Given the description of an element on the screen output the (x, y) to click on. 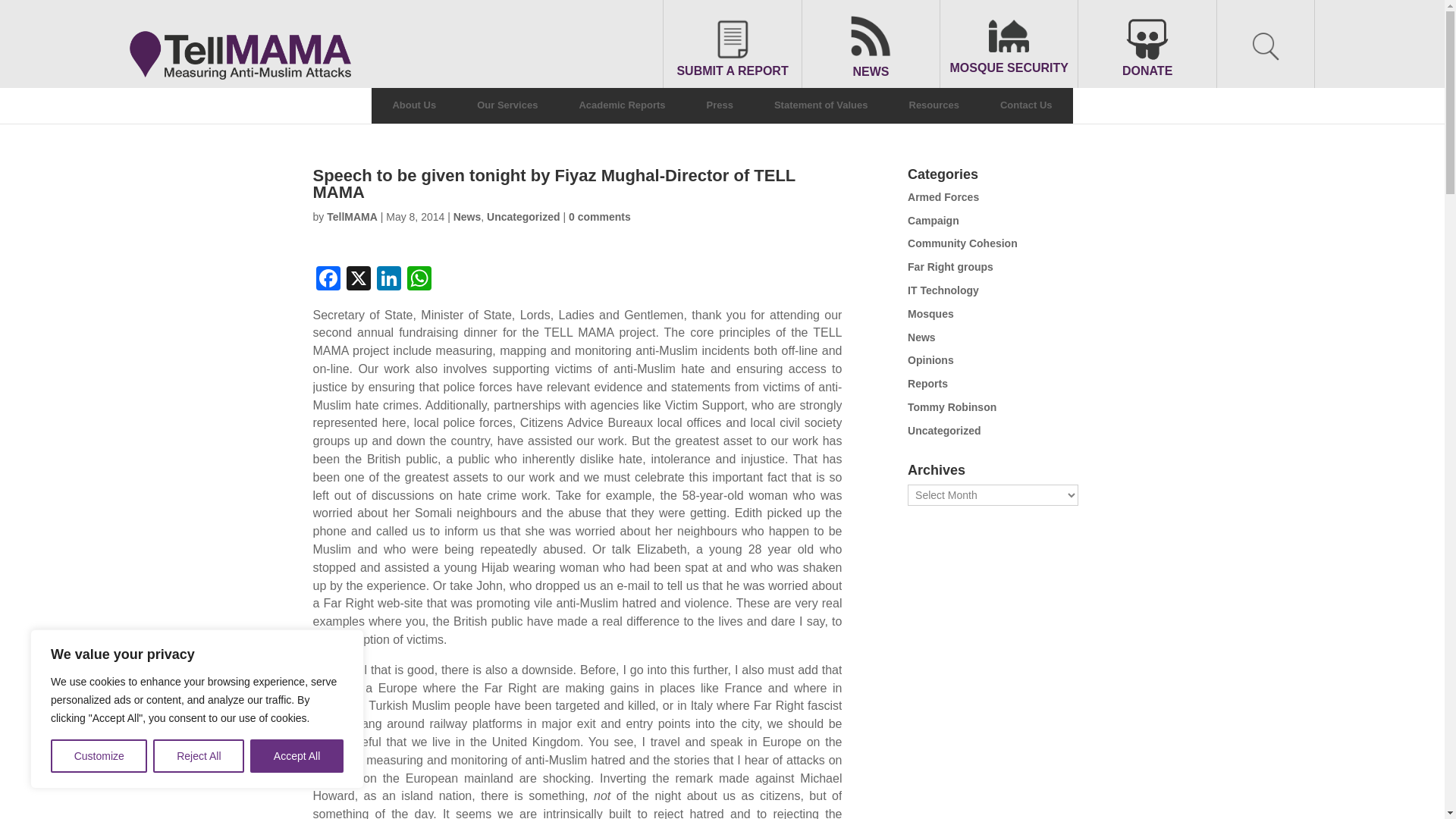
Uncategorized (522, 216)
Facebook (327, 280)
SUBMIT A REPORT (731, 47)
Statement of Values (821, 105)
Posts by TellMAMA (351, 216)
LinkedIn (387, 280)
Our Services (507, 105)
WhatsApp (418, 280)
Customize (98, 756)
X (357, 280)
Press (719, 105)
0 comments (599, 216)
News (466, 216)
LinkedIn (387, 280)
TellMAMA (351, 216)
